Given the description of an element on the screen output the (x, y) to click on. 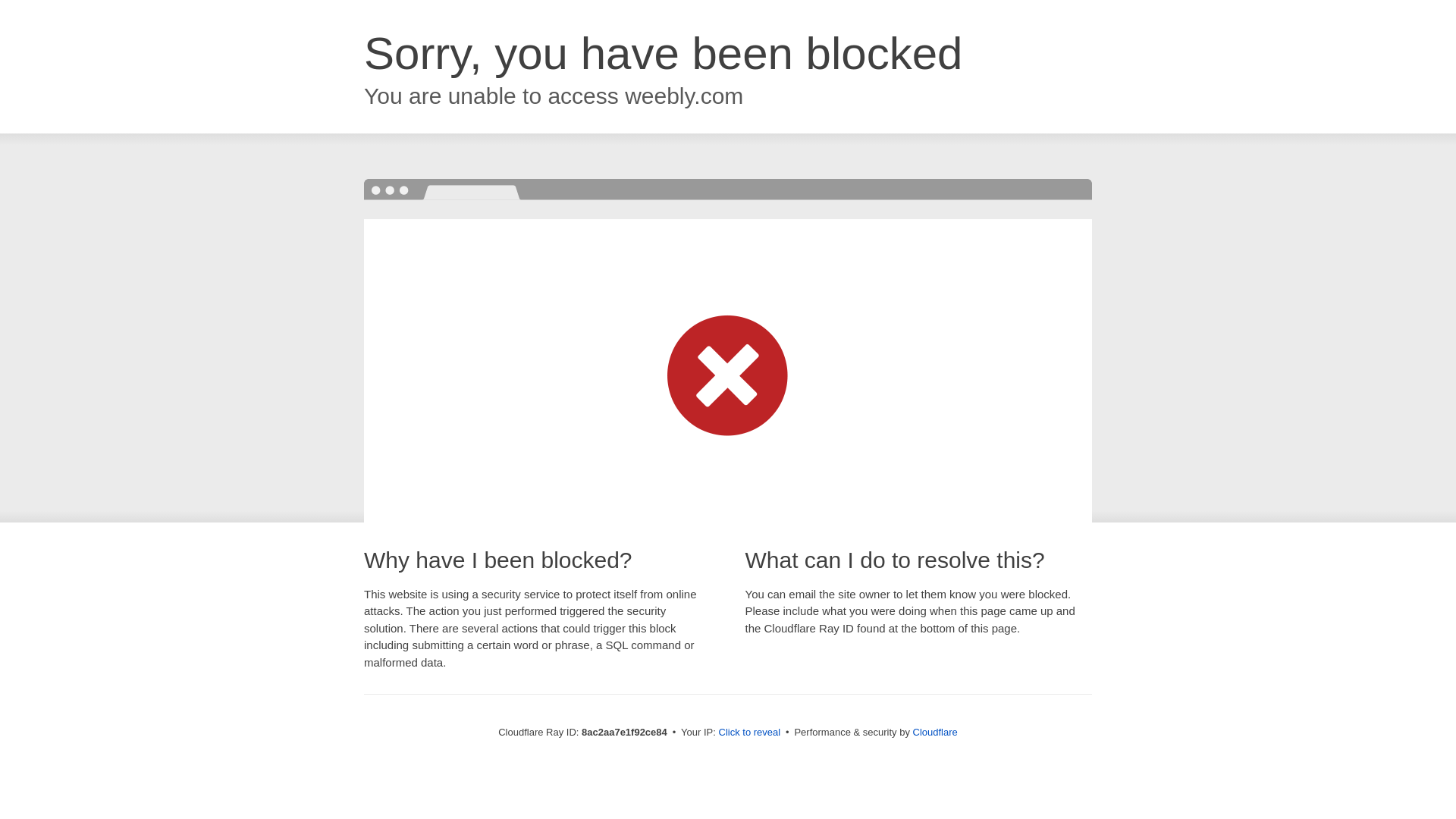
Click to reveal (749, 732)
Cloudflare (935, 731)
